Given the description of an element on the screen output the (x, y) to click on. 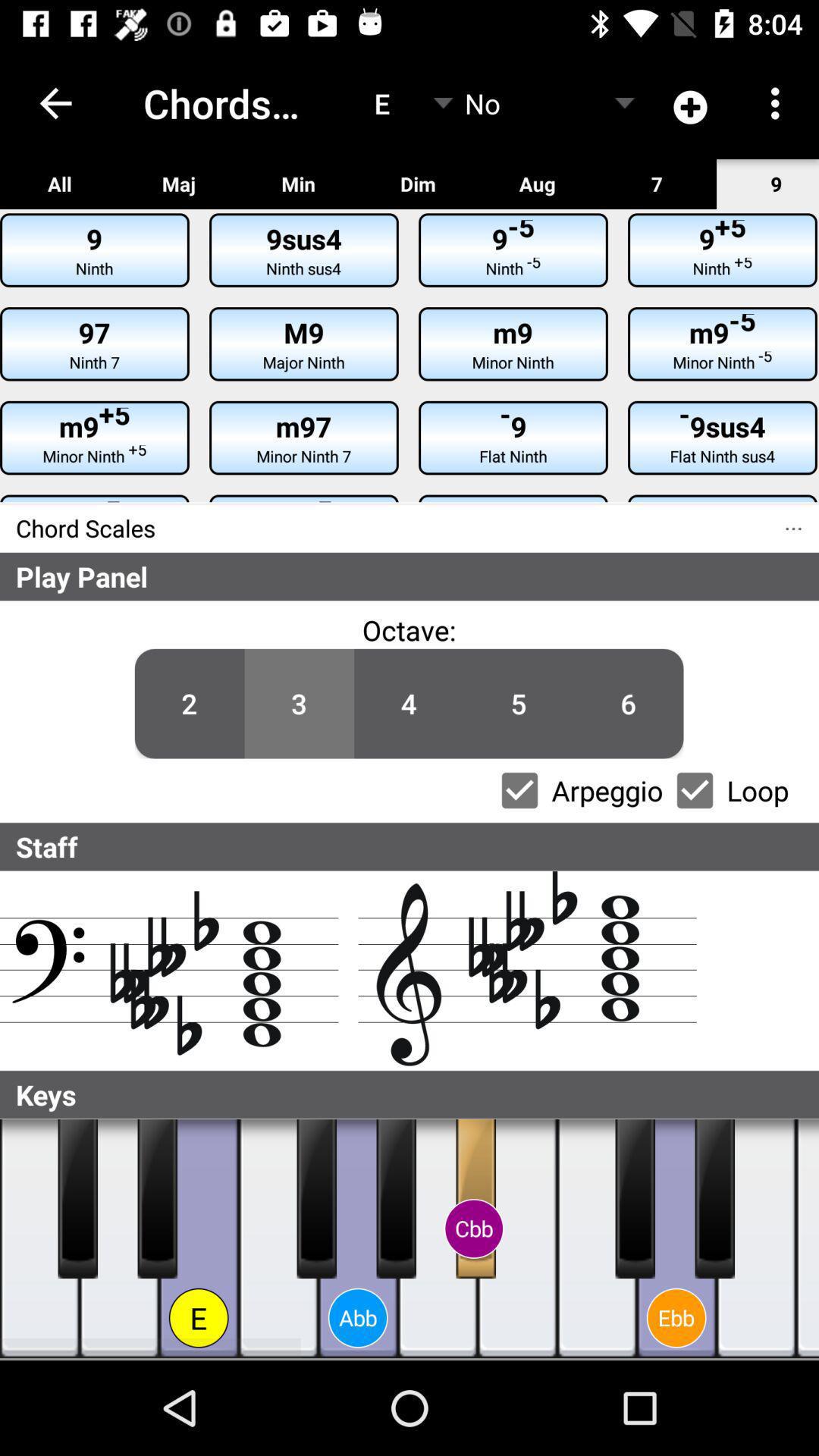
piano key (396, 1198)
